Given the description of an element on the screen output the (x, y) to click on. 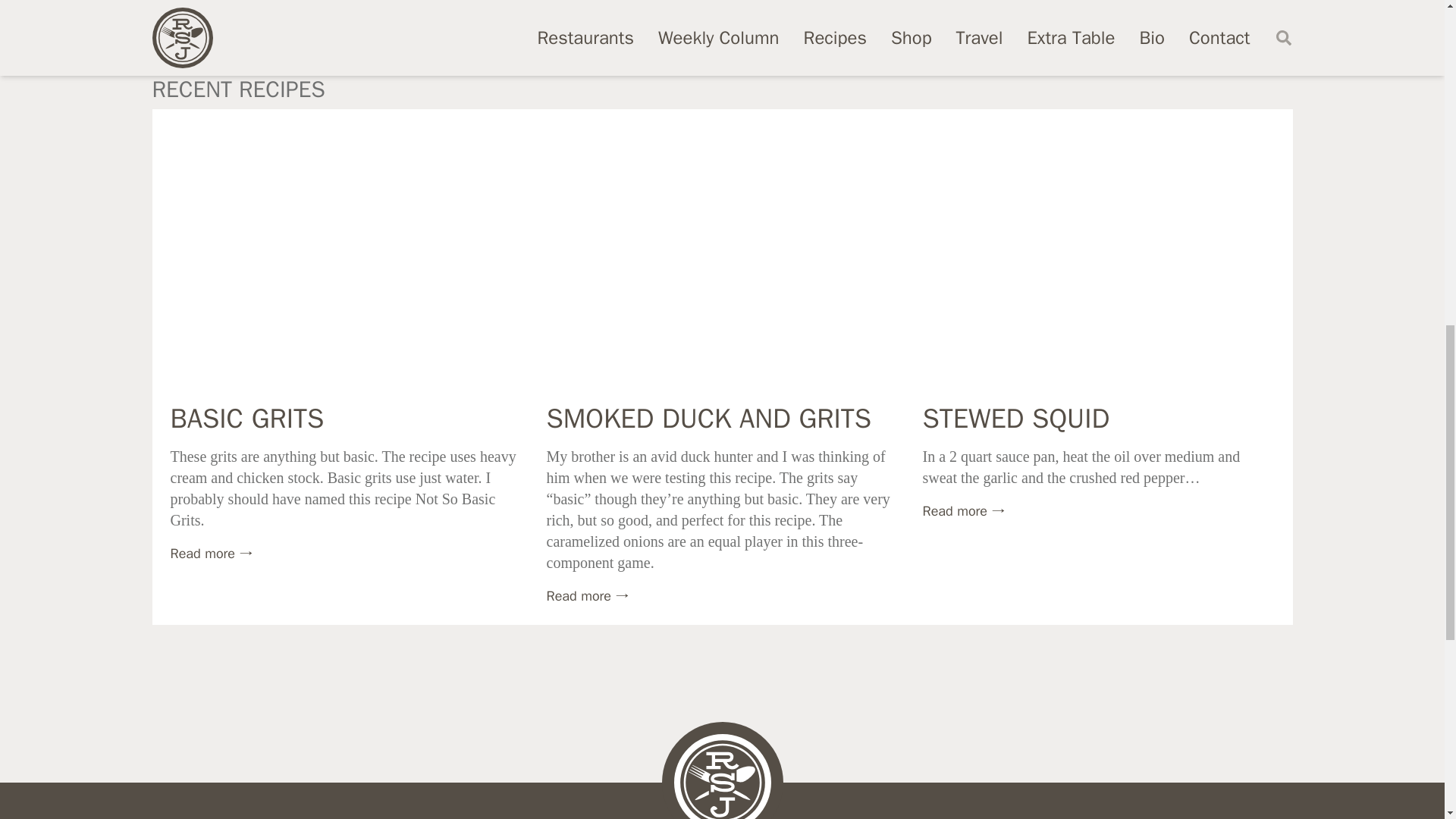
BASIC GRITS (246, 418)
Read more (587, 595)
SMOKED DUCK AND GRITS (708, 418)
Read more (210, 553)
